Given the description of an element on the screen output the (x, y) to click on. 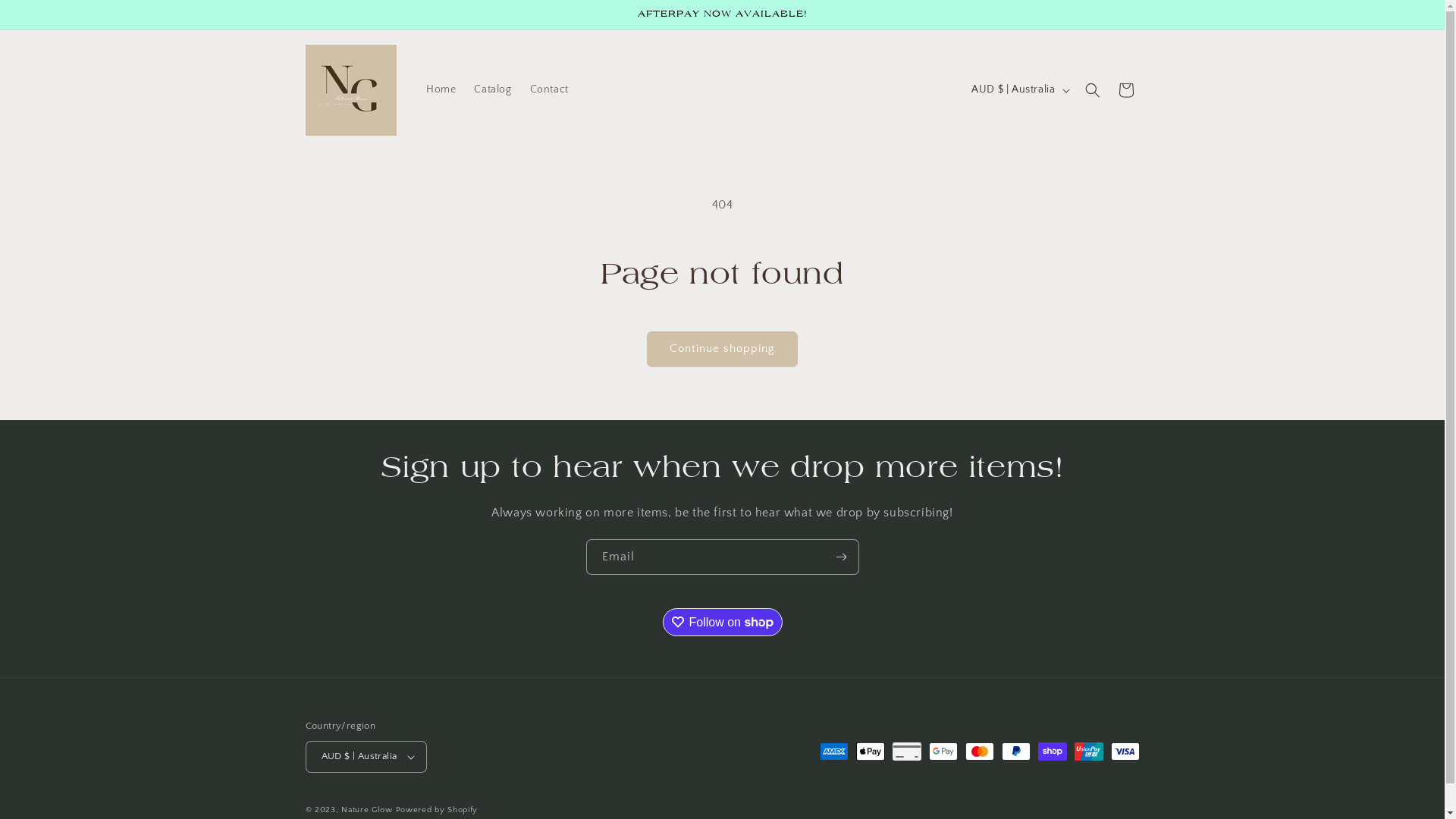
Cart Element type: text (1125, 89)
Continue shopping Element type: text (721, 349)
Catalog Element type: text (492, 89)
Home Element type: text (440, 89)
Powered by Shopify Element type: text (436, 809)
AUD $ | Australia Element type: text (1018, 89)
AUD $ | Australia Element type: text (365, 756)
Nature Glow Element type: text (366, 809)
Contact Element type: text (548, 89)
